Given the description of an element on the screen output the (x, y) to click on. 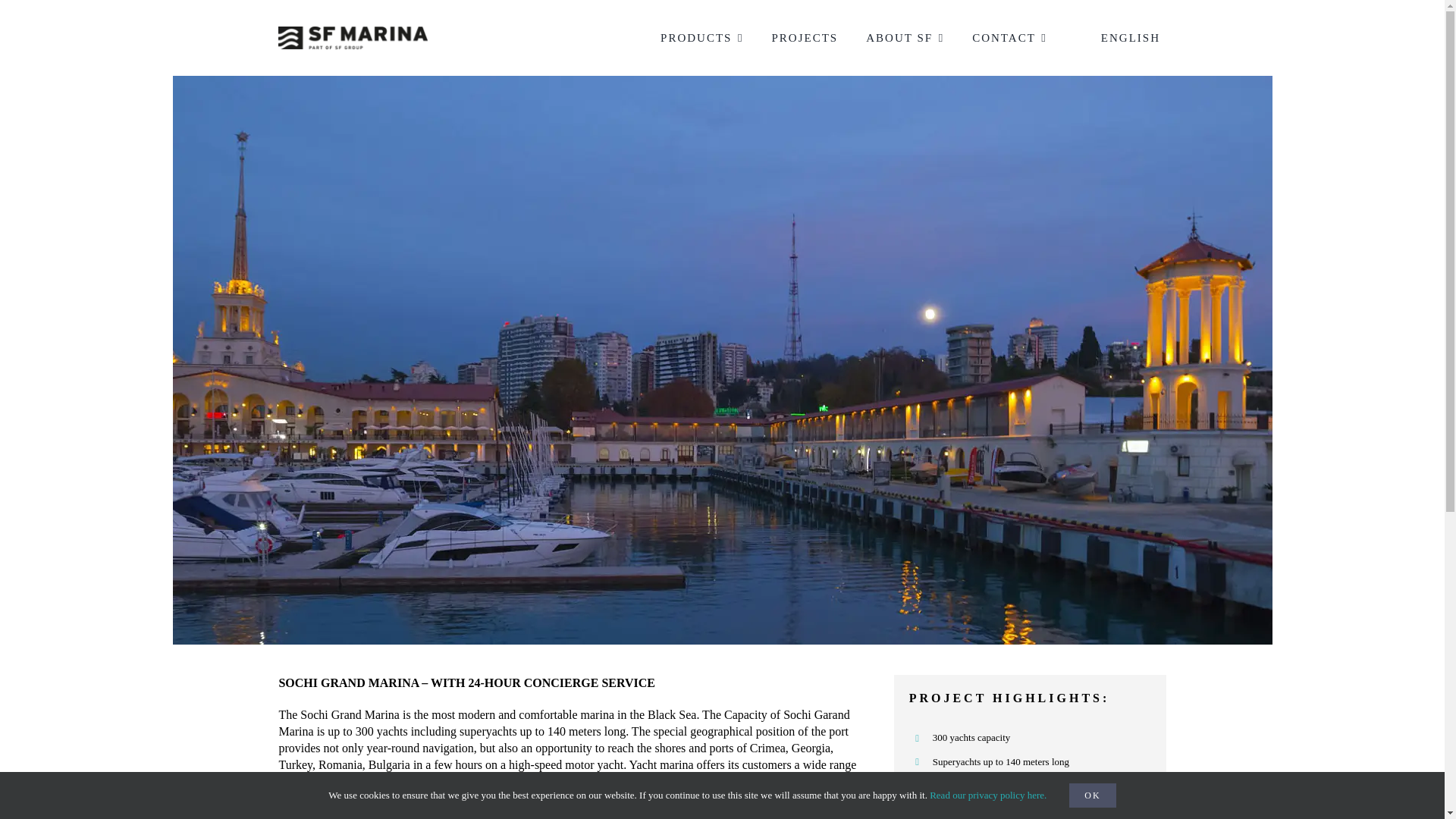
PRODUCTS (701, 37)
English (1120, 37)
